Given the description of an element on the screen output the (x, y) to click on. 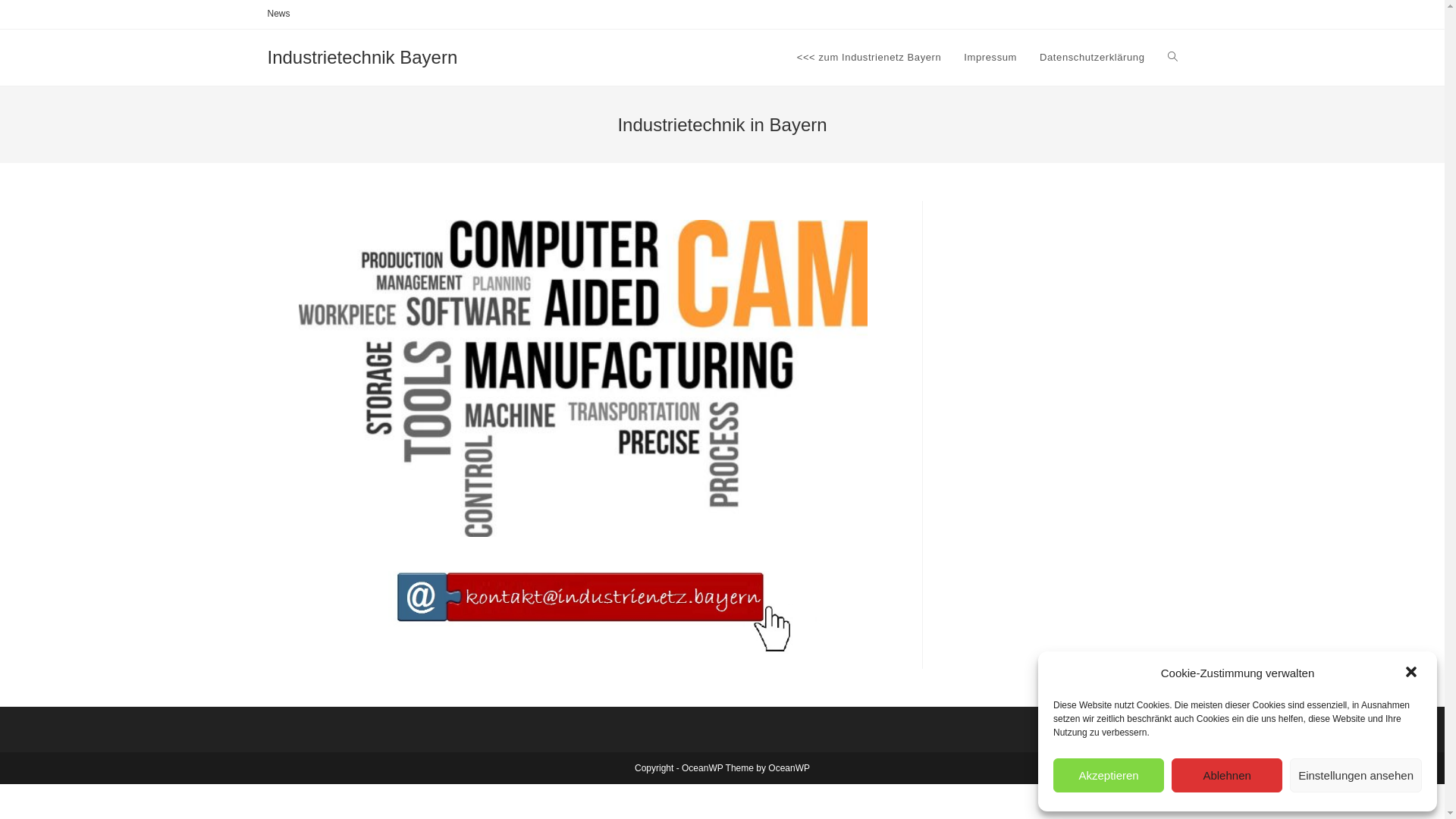
Toggle website search Element type: text (1171, 57)
Akzeptieren Element type: text (1108, 775)
Einstellungen ansehen Element type: text (1355, 775)
Industrietechnik Bayern Element type: text (361, 57)
Impressum Element type: text (990, 57)
Ablehnen Element type: text (1226, 775)
News Element type: text (277, 14)
<<< zum Industrienetz Bayern Element type: text (869, 57)
